Given the description of an element on the screen output the (x, y) to click on. 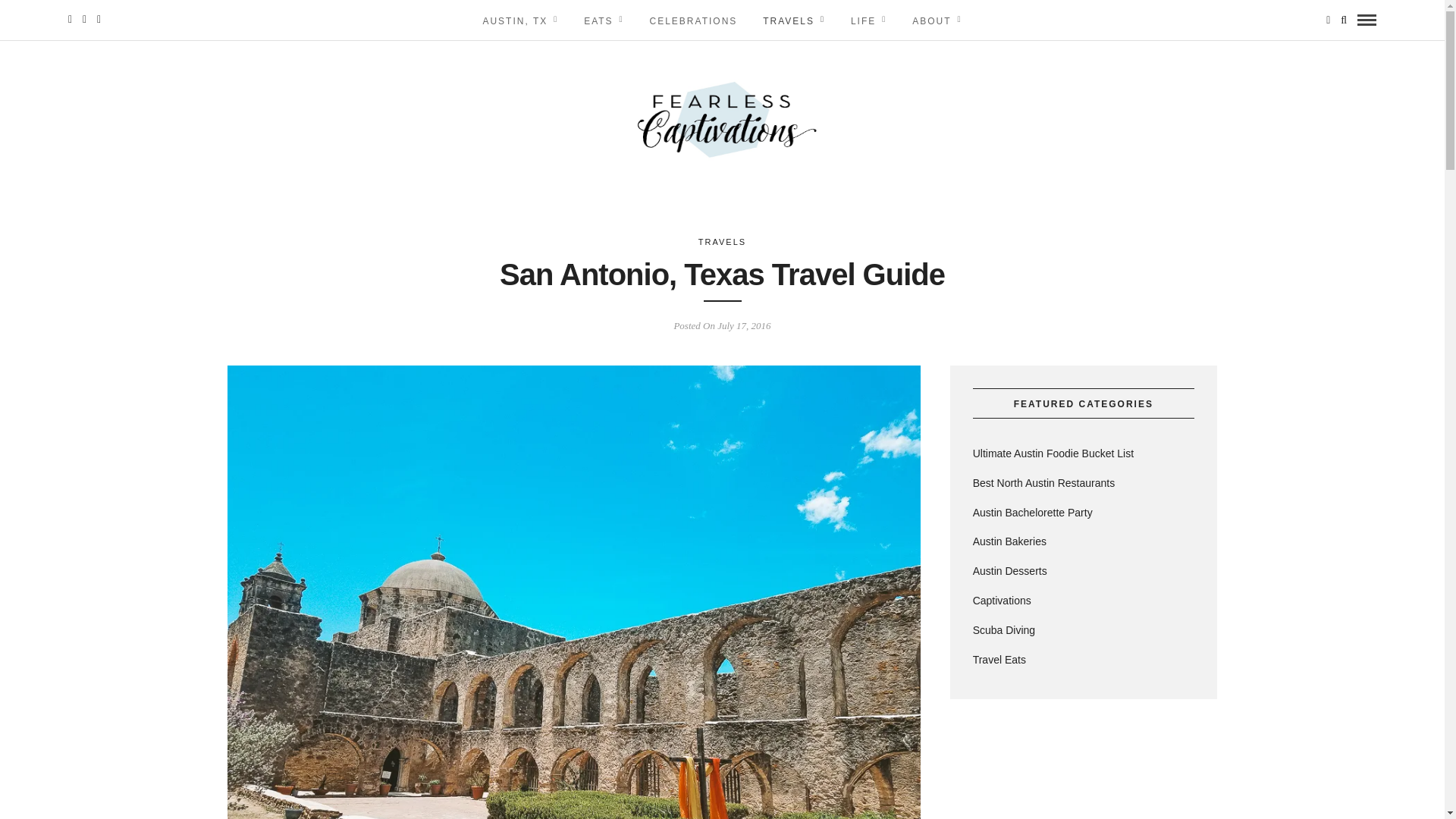
AUSTIN, TX (519, 20)
EATS (603, 20)
ABOUT (936, 20)
CELEBRATIONS (694, 20)
TRAVELS (721, 241)
TRAVELS (793, 20)
LIFE (869, 20)
